Given the description of an element on the screen output the (x, y) to click on. 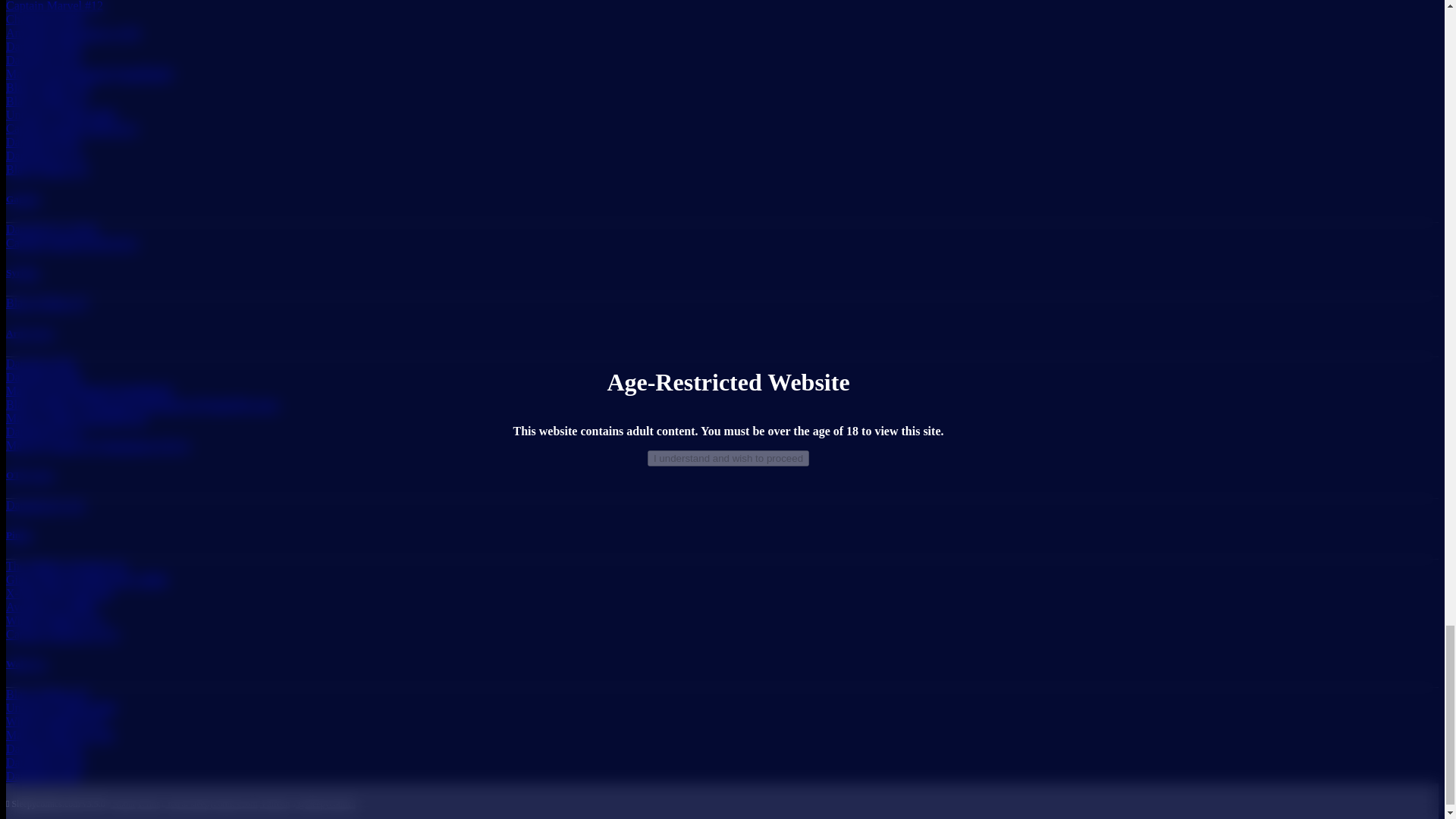
Support me on Patreon (274, 803)
Terms of service (148, 803)
Sleepycomics.com was founded on June 20, 2006. (54, 803)
About Sleepycomics.com (121, 803)
Follow me on Twitter! (323, 803)
